Given the description of an element on the screen output the (x, y) to click on. 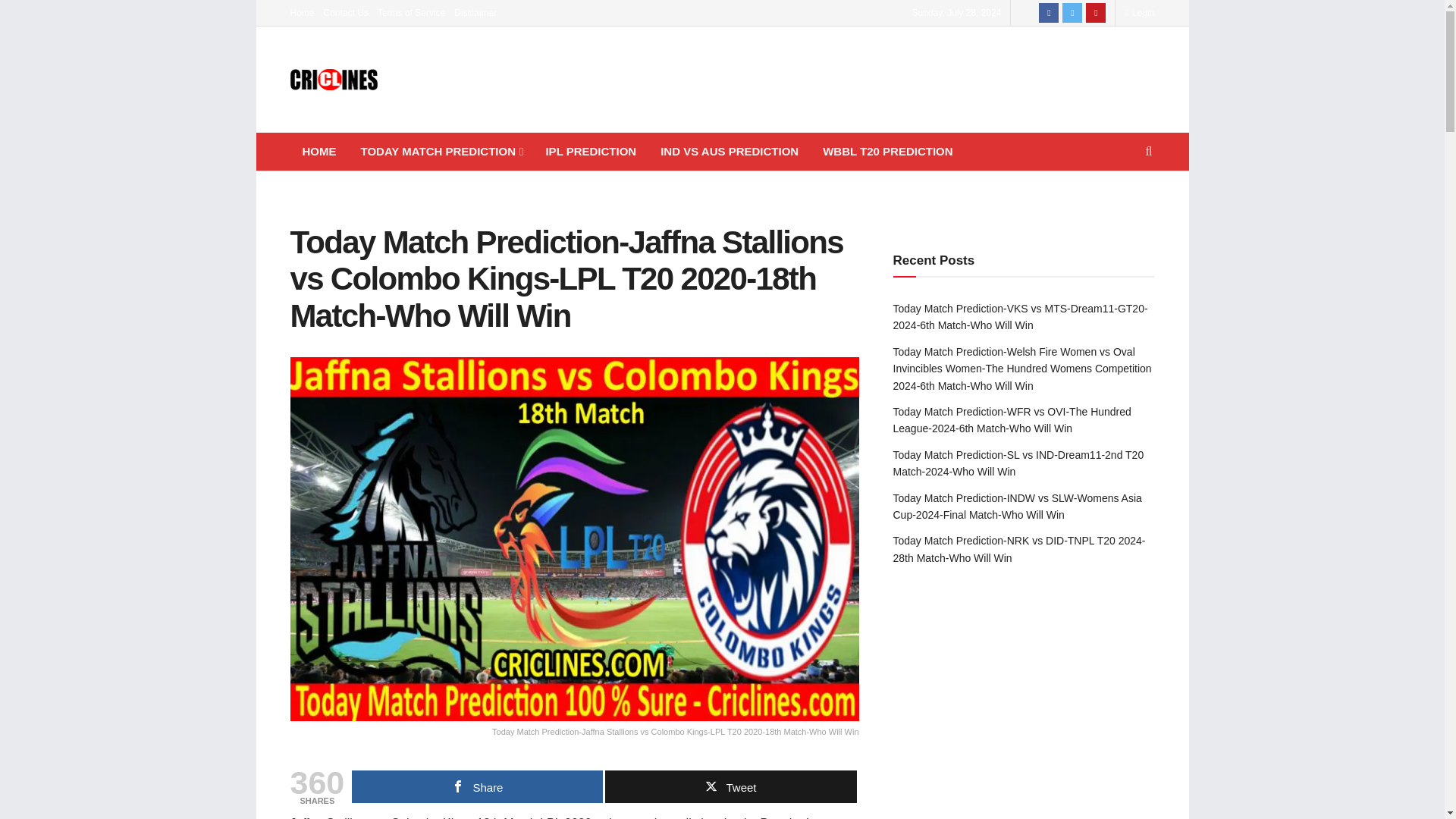
Terms of Service (411, 12)
WBBL T20 PREDICTION (886, 151)
Contact Us (345, 12)
Disclaimer (475, 12)
TODAY MATCH PREDICTION (441, 151)
HOME (318, 151)
IPL PREDICTION (589, 151)
Home (301, 12)
Login (1139, 12)
IND VS AUS PREDICTION (728, 151)
